Given the description of an element on the screen output the (x, y) to click on. 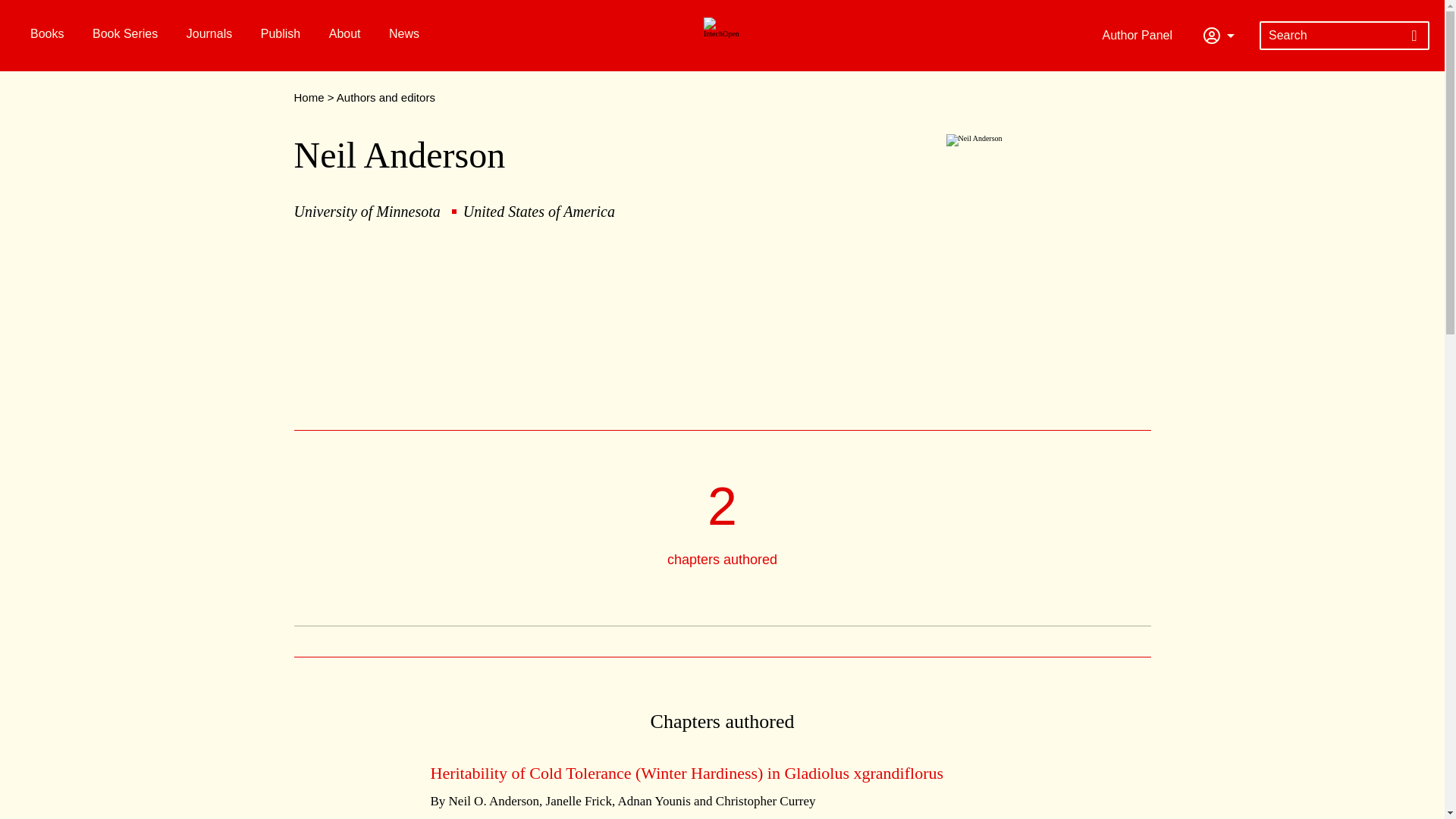
Publish (278, 33)
Authors and editors (385, 97)
Home (309, 97)
Author Panel (1140, 35)
Journals (207, 33)
Submit (1414, 35)
Book Series (122, 33)
